Given the description of an element on the screen output the (x, y) to click on. 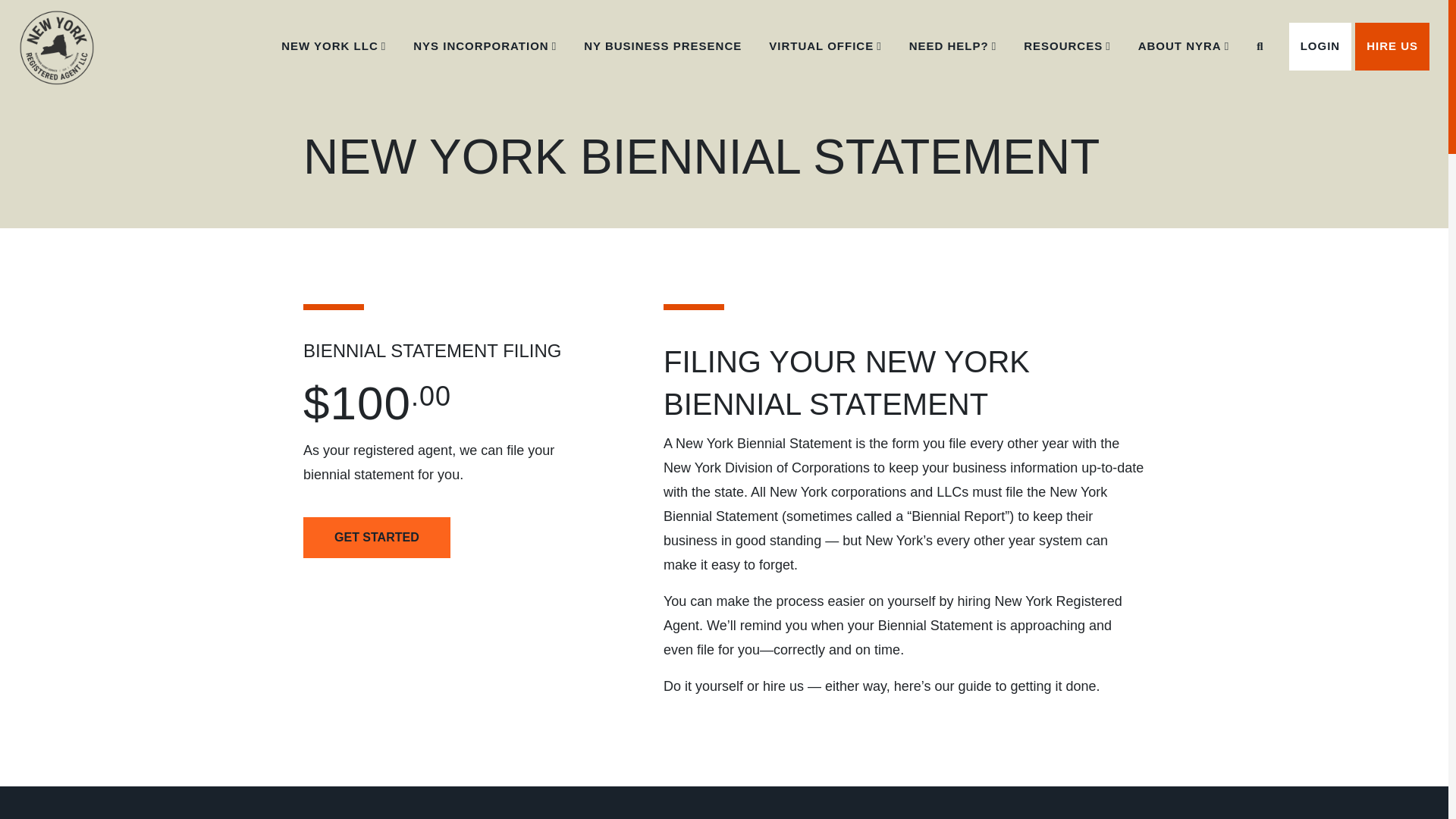
LOGIN (1320, 46)
VIRTUAL OFFICE (824, 46)
GET STARTED (375, 536)
NEW YORK LLC (333, 46)
NY BUSINESS PRESENCE (663, 46)
RESOURCES (1066, 46)
HIRE US (1392, 46)
ABOUT NYRA (1183, 46)
NEED HELP? (952, 46)
NYS INCORPORATION (484, 46)
